Given the description of an element on the screen output the (x, y) to click on. 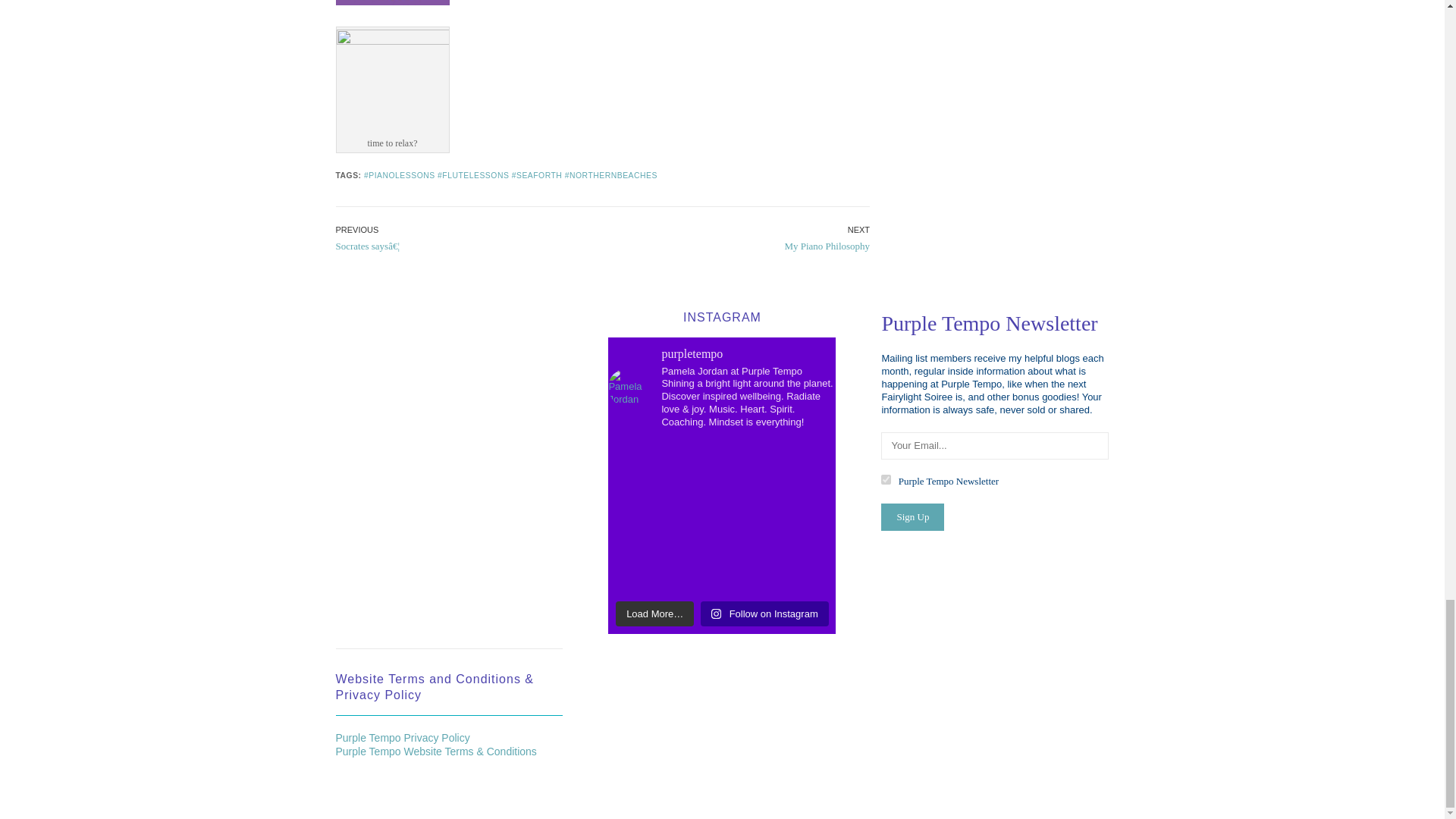
Purple Tempo Privacy Policy (401, 737)
Sign Up (911, 516)
74724813d9 (885, 479)
Sign Up (911, 516)
Follow on Instagram (764, 614)
